Given the description of an element on the screen output the (x, y) to click on. 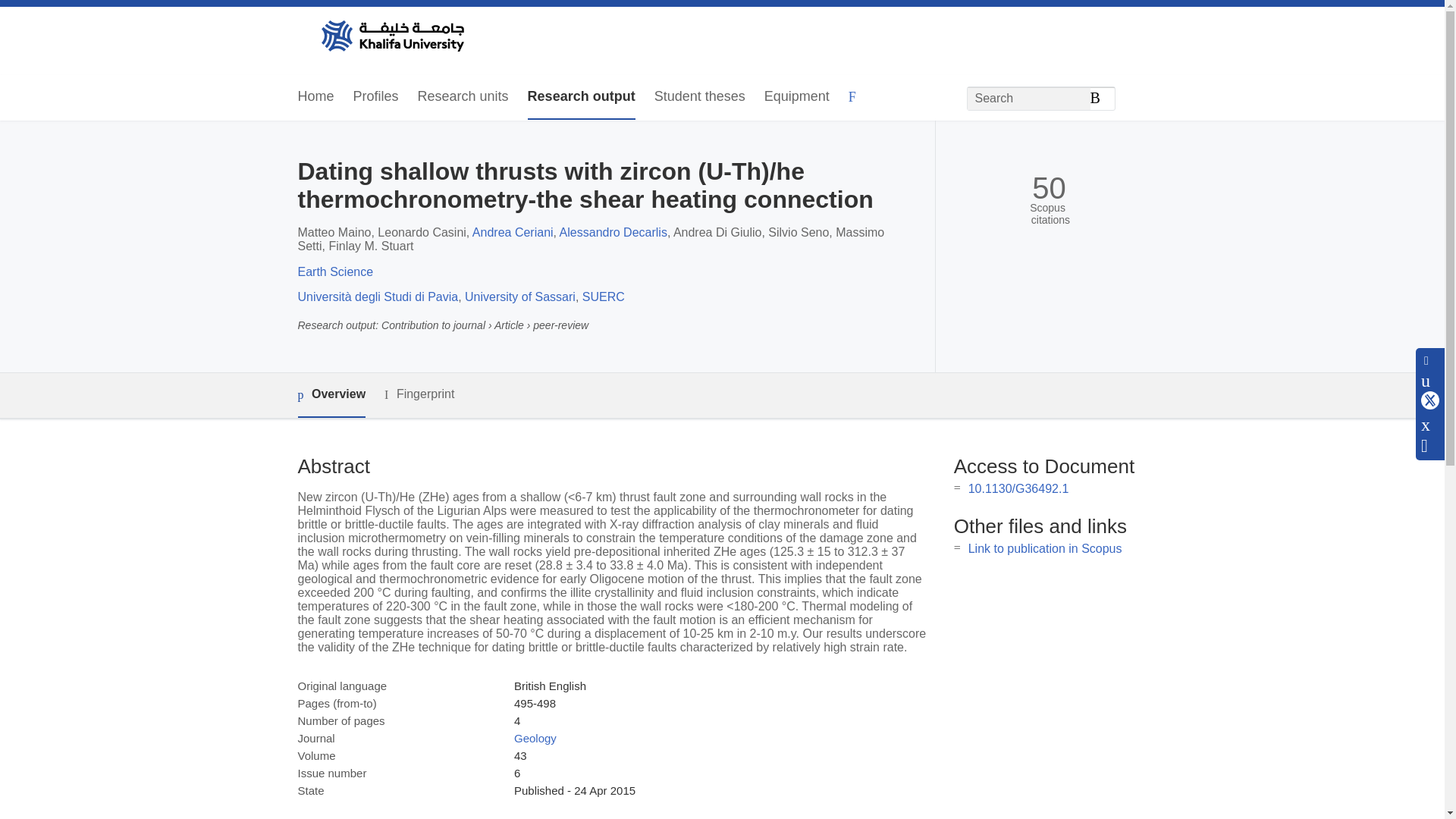
SUERC (603, 296)
Khalifa University Home (391, 37)
Equipment (796, 97)
Fingerprint (419, 394)
Alessandro Decarlis (612, 232)
Andrea Ceriani (512, 232)
Research output (580, 97)
Geology (534, 738)
Earth Science (334, 271)
